Given the description of an element on the screen output the (x, y) to click on. 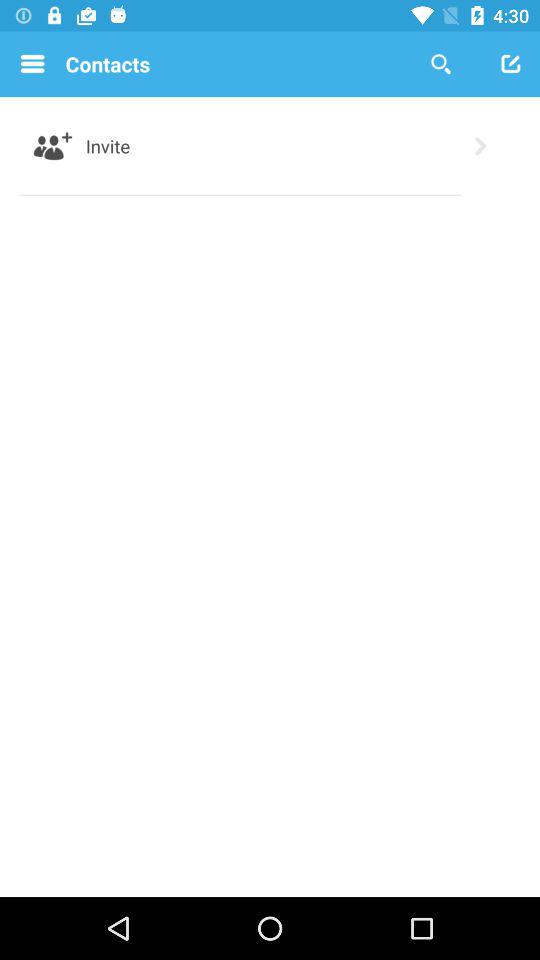
launch icon to the left of the invite (52, 146)
